Given the description of an element on the screen output the (x, y) to click on. 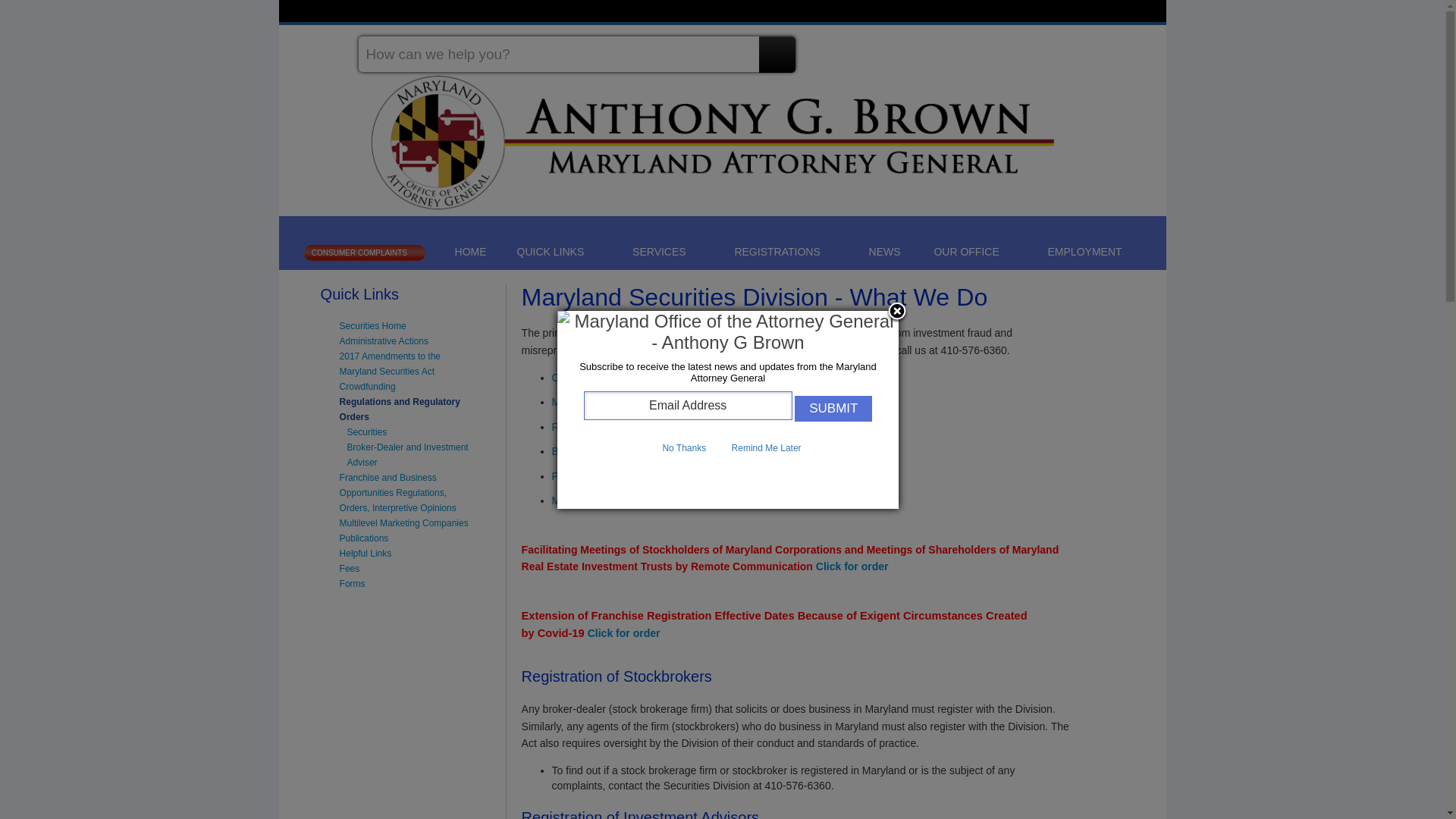
CONSUMER COMPLAINTS (364, 252)
Twitter (1058, 48)
Submit (833, 408)
How can we help you? (576, 54)
Facebook (1029, 48)
SERVICES (666, 251)
Twitter (1058, 48)
Instagram (1085, 48)
Flickr (1141, 48)
QUICK LINKS (558, 251)
Flickr (1141, 48)
HOME (470, 251)
YouTube (1114, 48)
Facebook (1029, 48)
Email Address (687, 405)
